Given the description of an element on the screen output the (x, y) to click on. 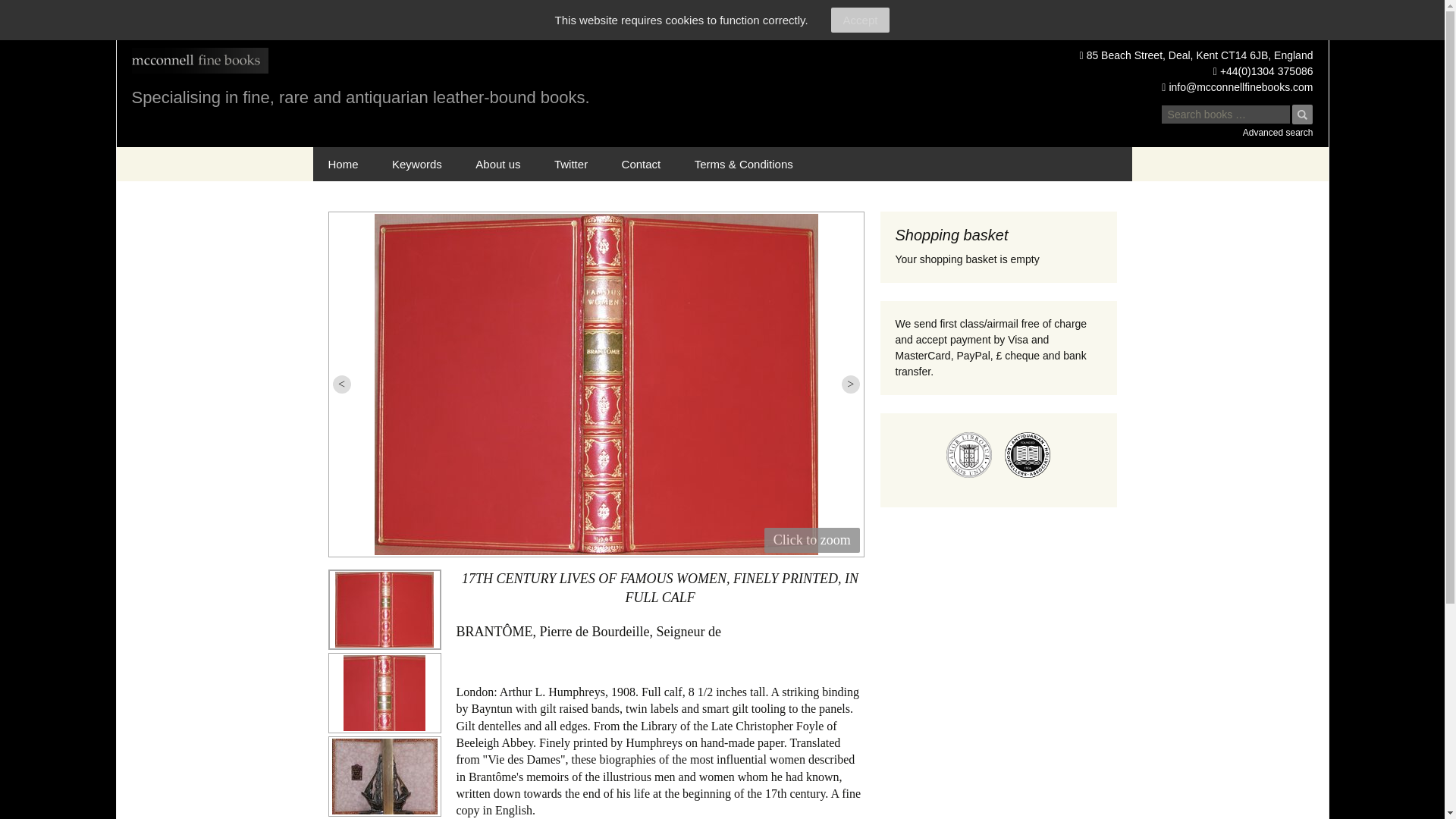
Accept (860, 19)
Next image (850, 384)
Advanced search (1236, 132)
Previous image (340, 384)
Twitter (570, 163)
Home (342, 163)
Keywords (417, 163)
Click to zoom (812, 539)
Contact (642, 163)
About us (497, 163)
